Given the description of an element on the screen output the (x, y) to click on. 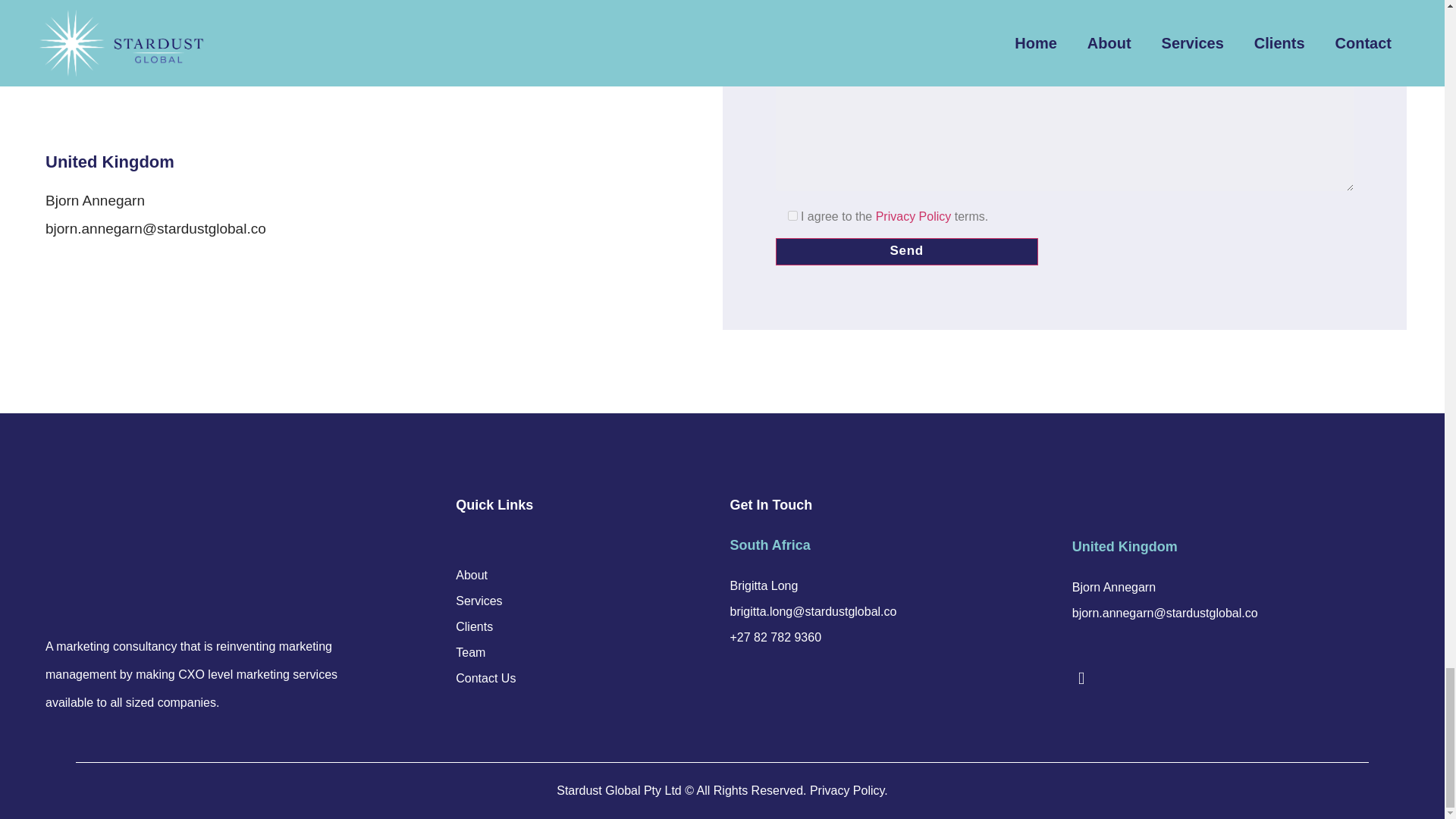
1 (791, 215)
Clients (485, 626)
About (485, 575)
Services (485, 601)
Privacy Policy (914, 215)
Team (485, 652)
Send (905, 251)
Contact Us (485, 678)
Send (905, 251)
